Given the description of an element on the screen output the (x, y) to click on. 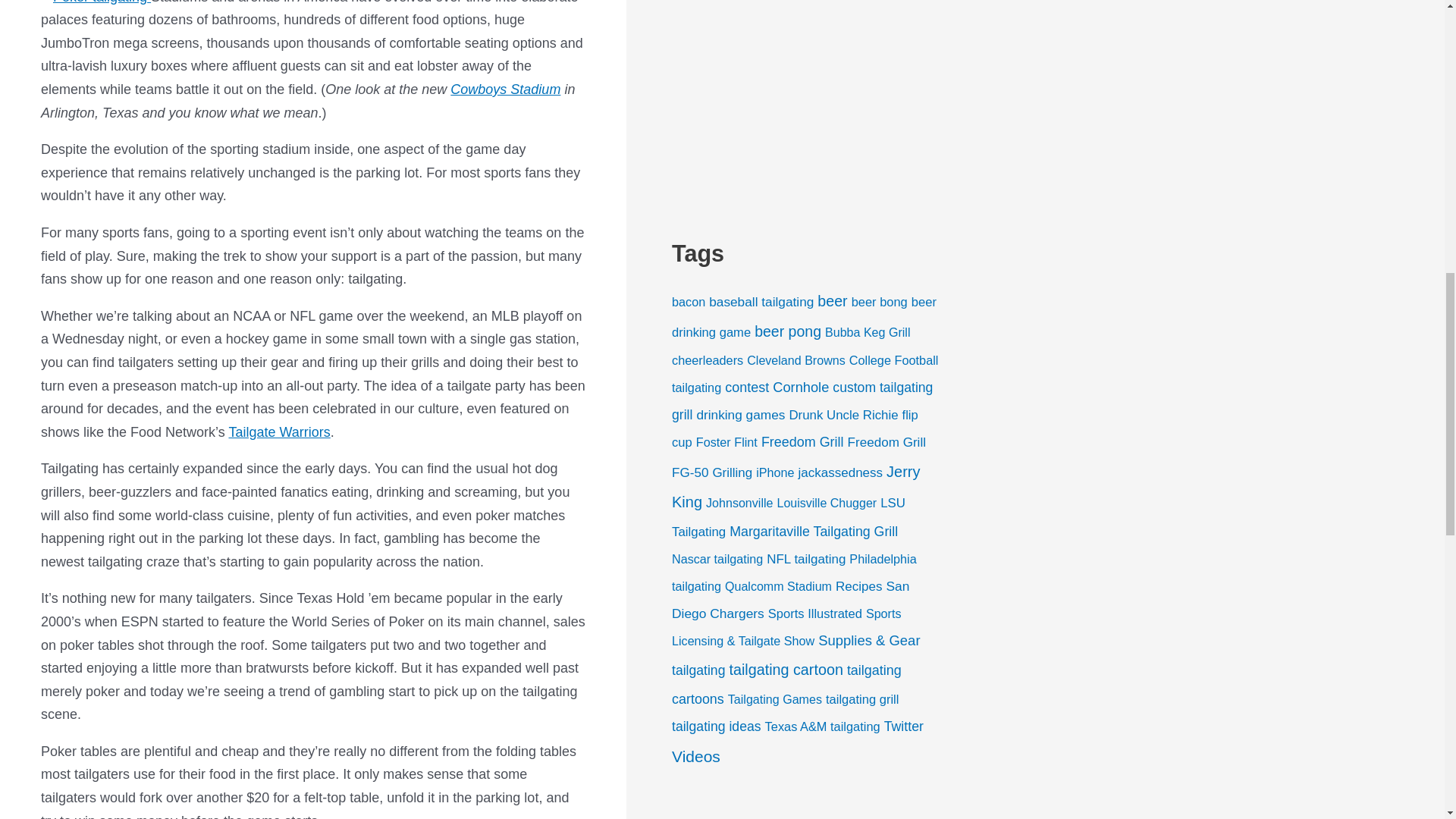
Tailgate Warriors (279, 432)
Cowboys Stadium (504, 89)
Poker tailgating (93, 4)
